Given the description of an element on the screen output the (x, y) to click on. 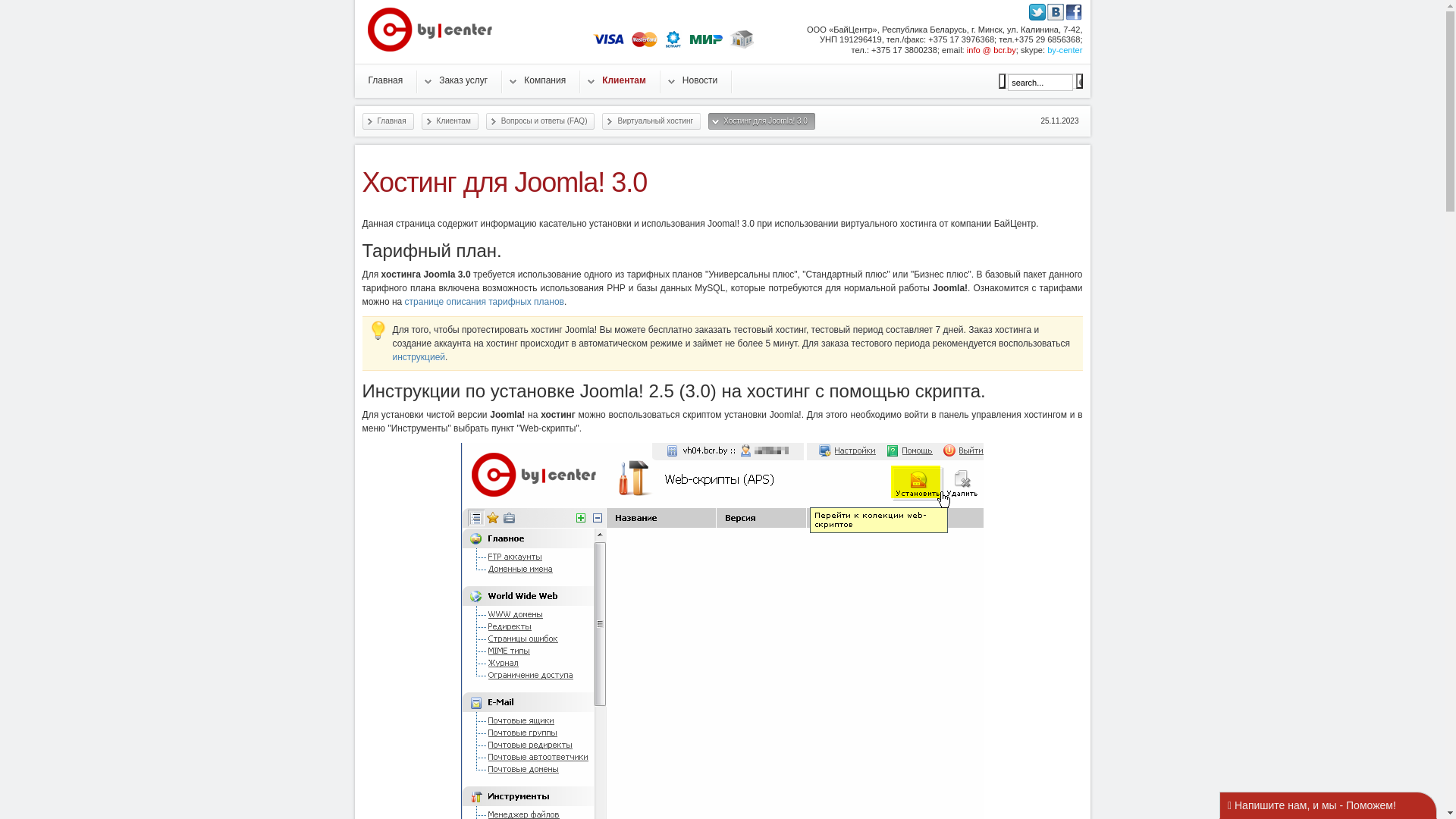
Reset Element type: text (1078, 80)
Search Element type: text (1001, 80)
